Given the description of an element on the screen output the (x, y) to click on. 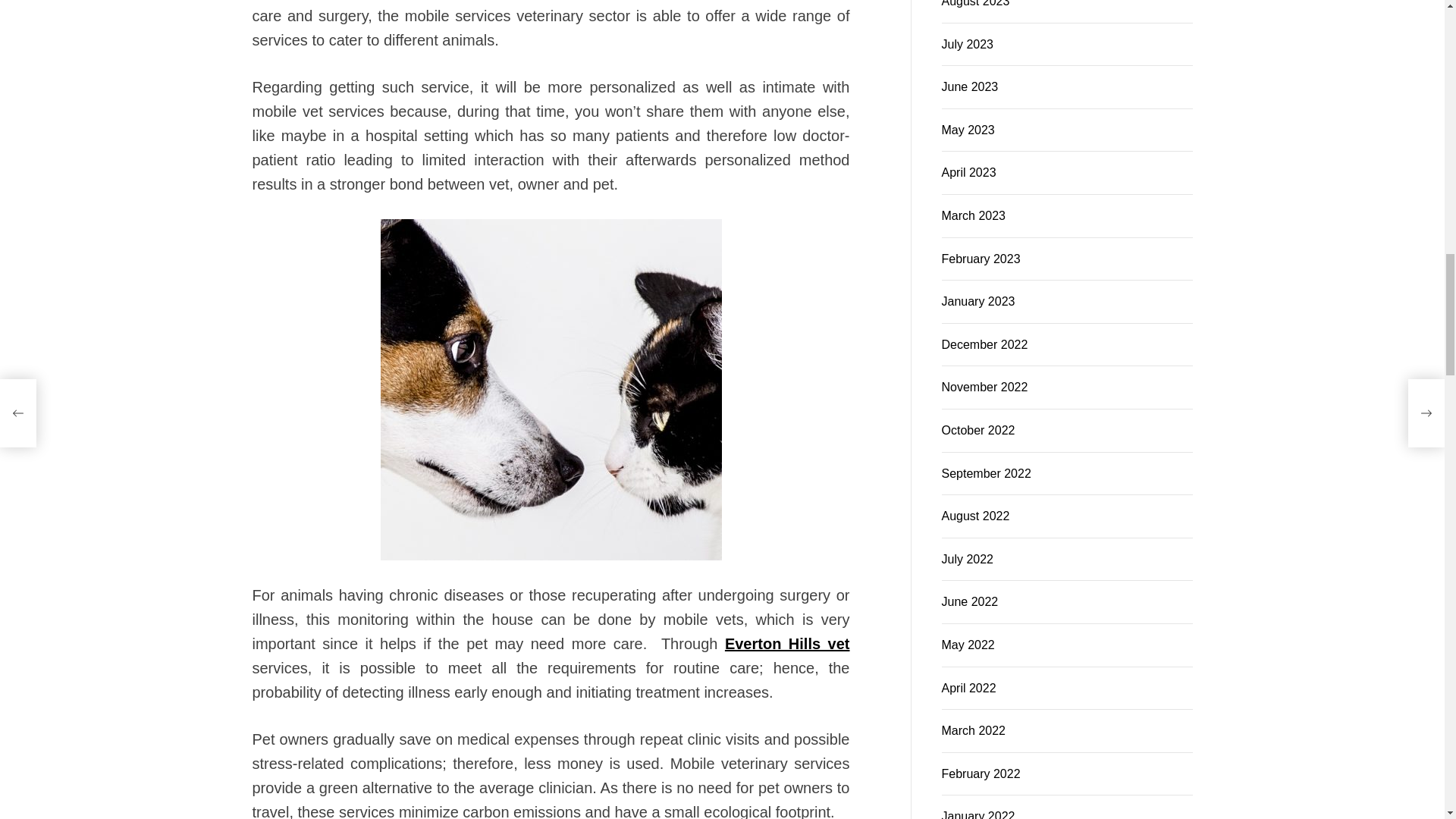
Everton Hills vet (787, 362)
